Given the description of an element on the screen output the (x, y) to click on. 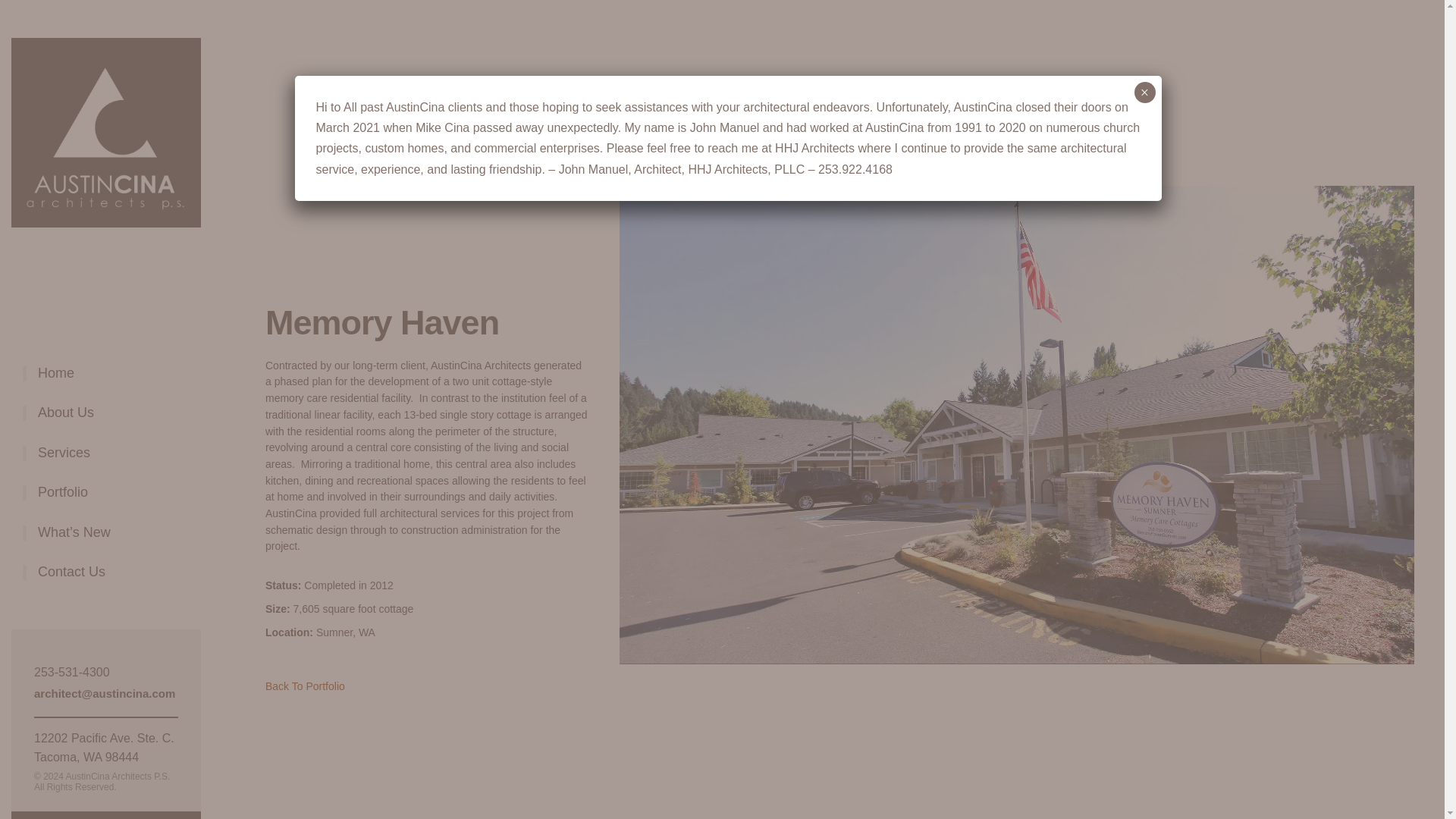
Portfolio (62, 499)
Home (55, 380)
Services (63, 460)
About Us (65, 420)
Contact Us (70, 579)
Back To Portfolio (304, 686)
